Given the description of an element on the screen output the (x, y) to click on. 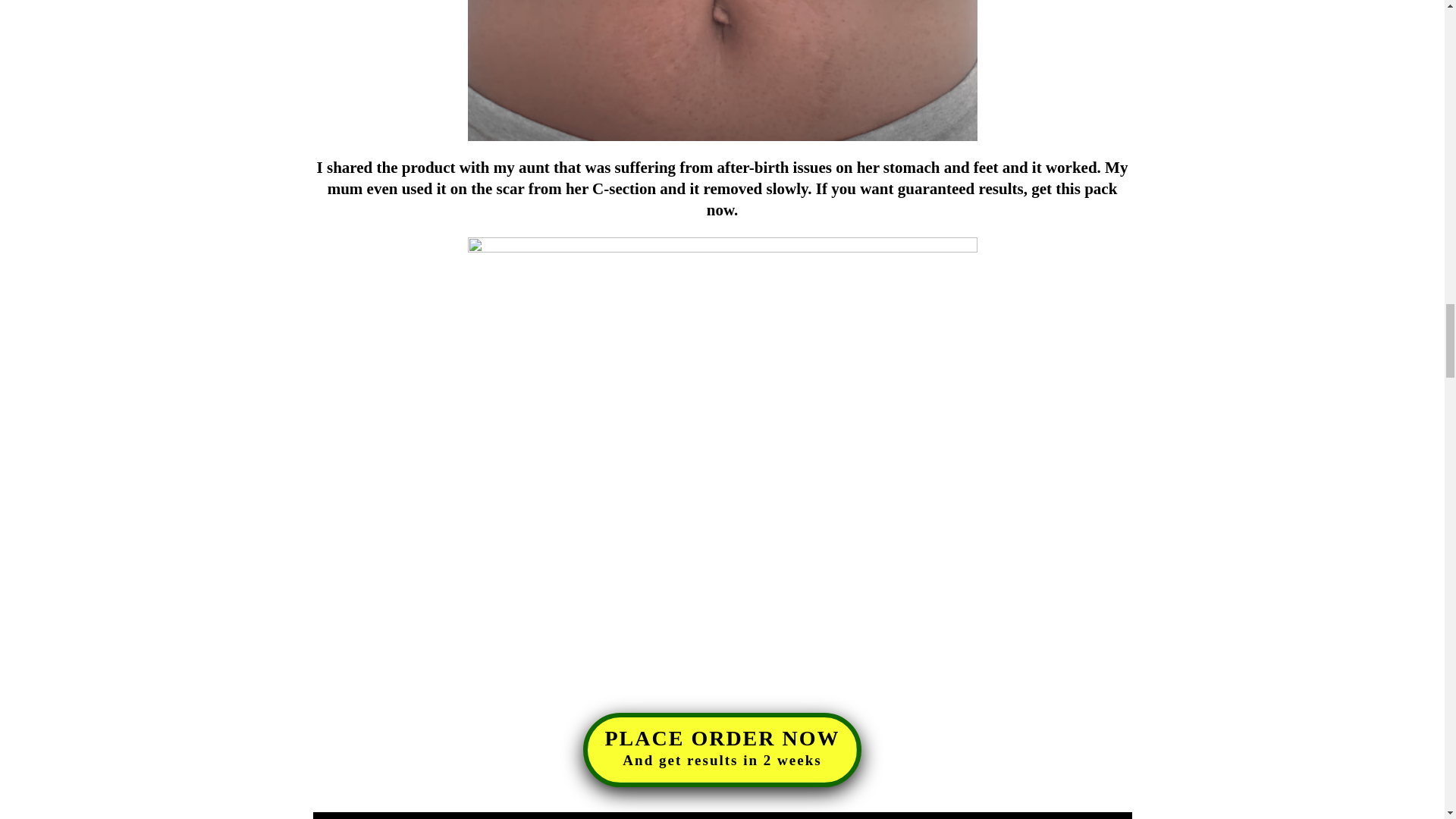
After-a-few-weeks (721, 749)
before-and-after-a-month (721, 70)
